Given the description of an element on the screen output the (x, y) to click on. 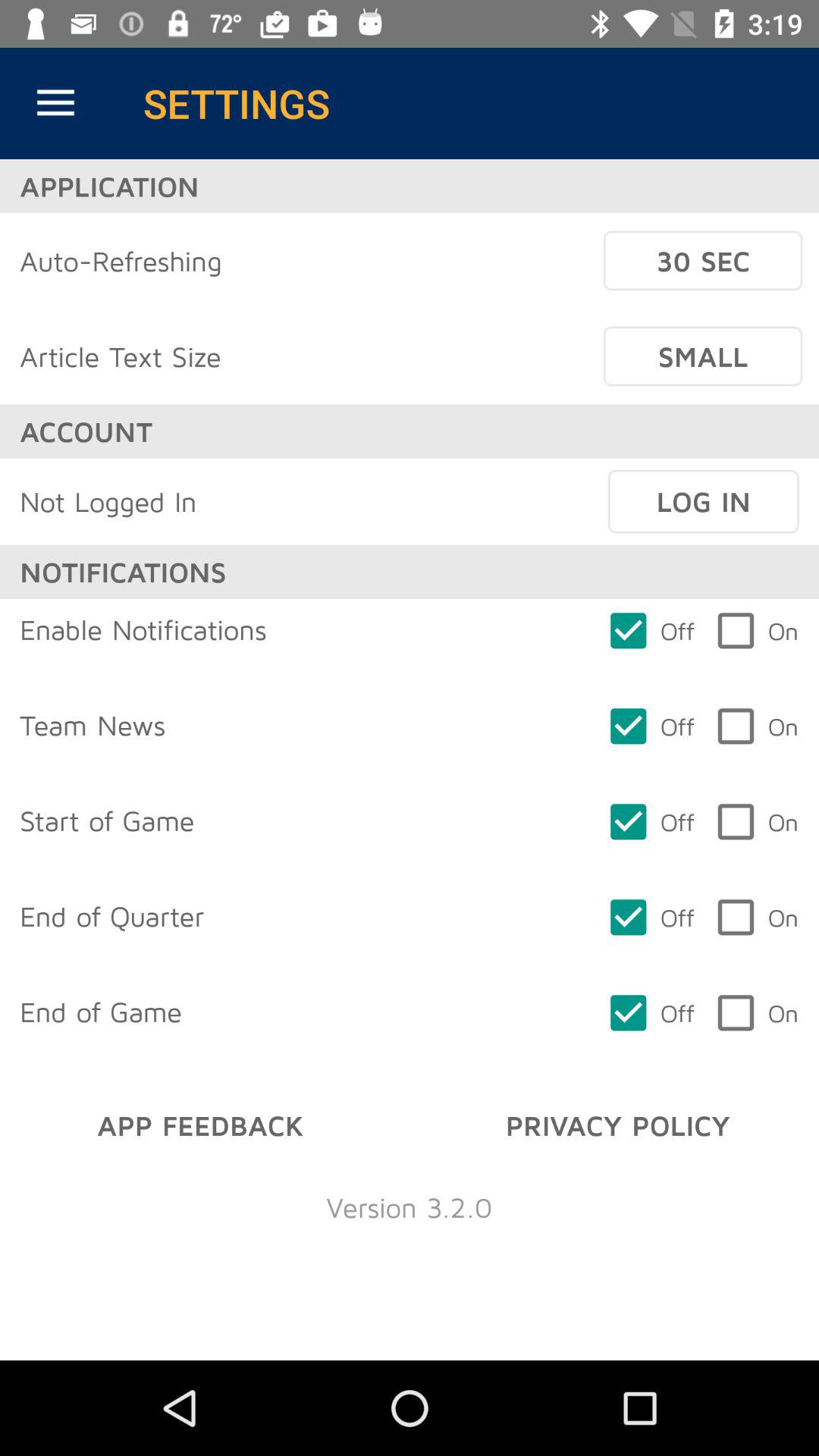
turn on the icon above application item (55, 103)
